Given the description of an element on the screen output the (x, y) to click on. 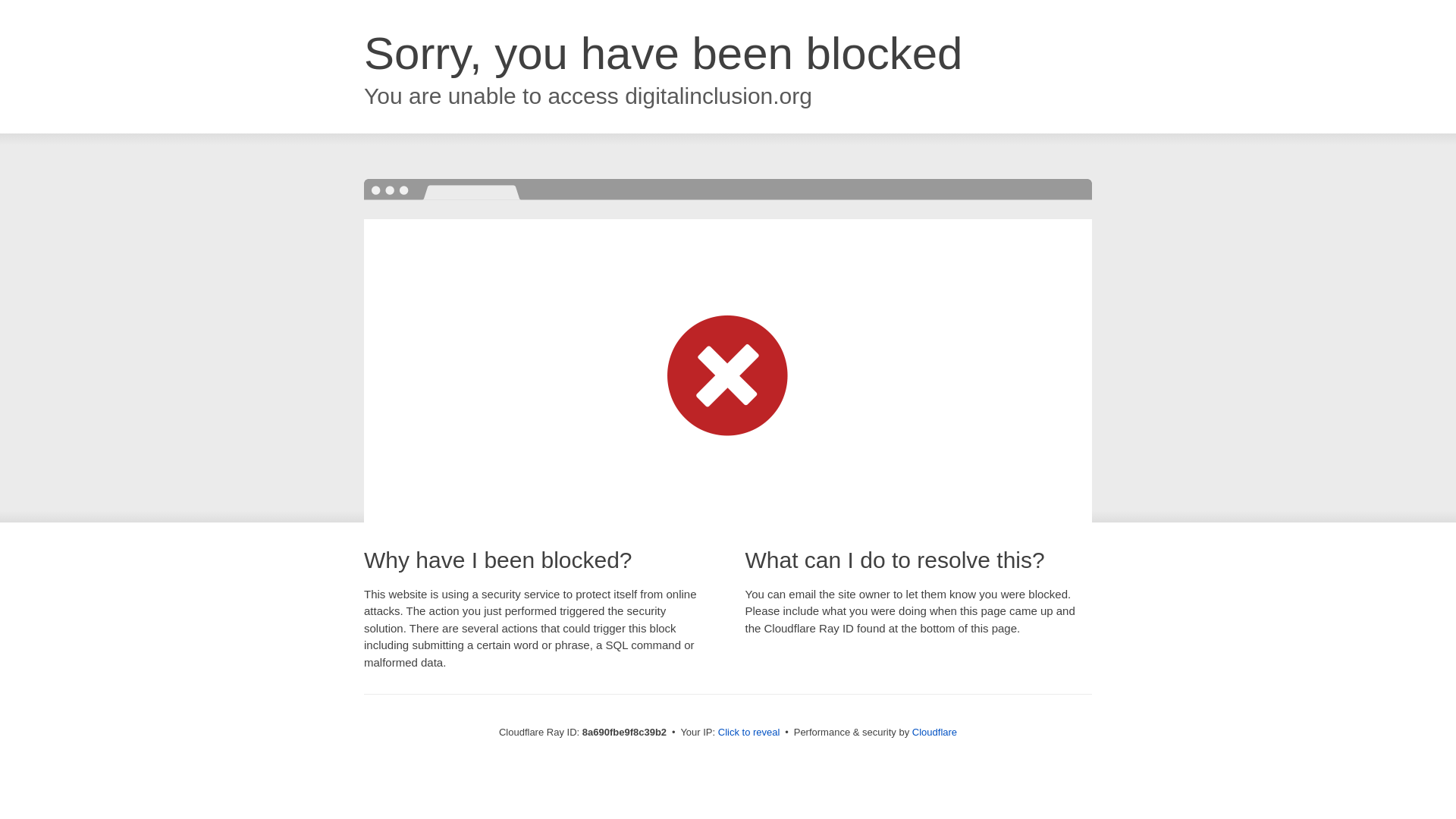
Click to reveal (748, 732)
Cloudflare (934, 731)
